Given the description of an element on the screen output the (x, y) to click on. 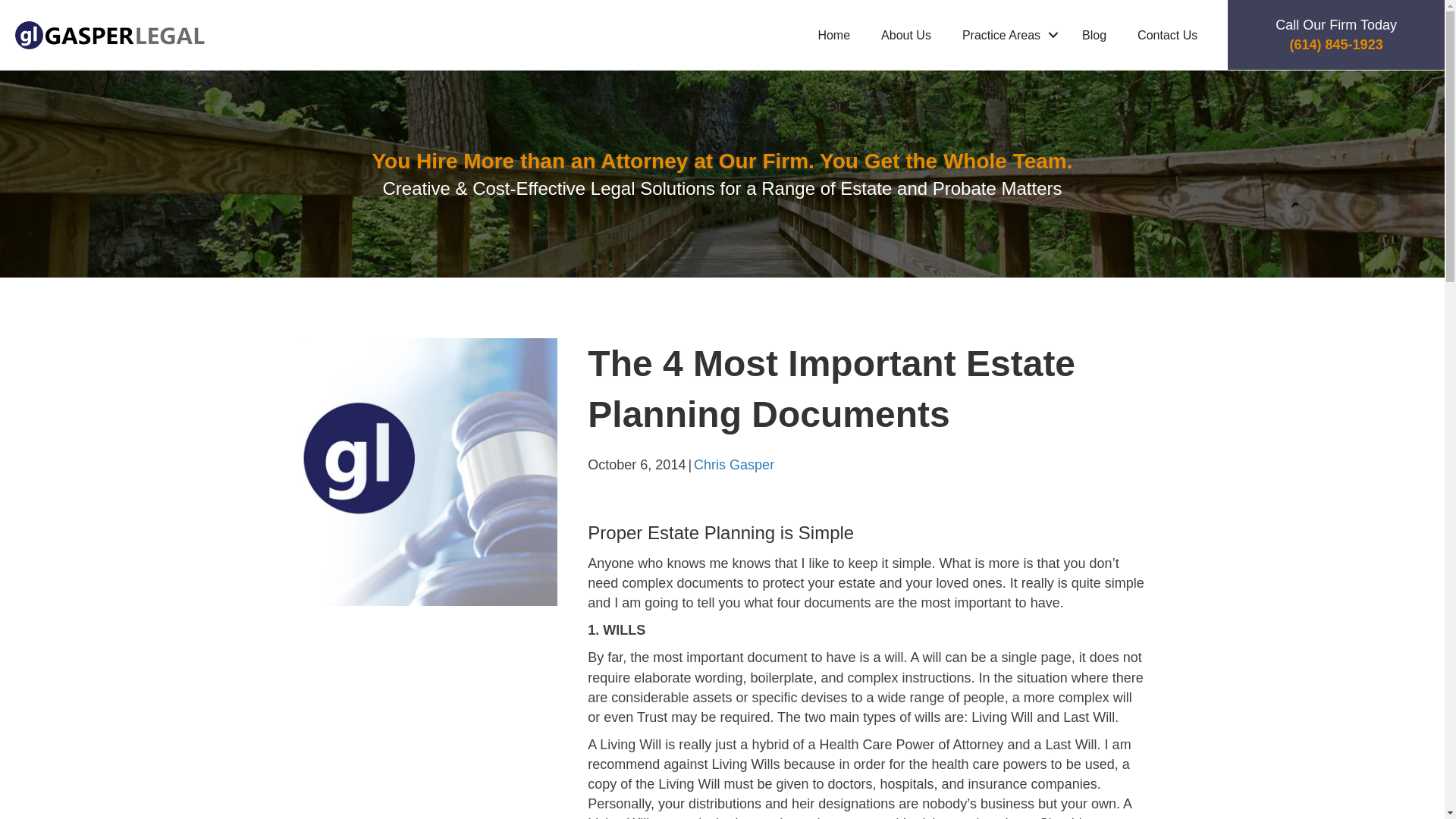
Home (833, 34)
Blog (1094, 34)
Chris Gasper (734, 464)
Practice Areas (1006, 34)
About Us (906, 34)
Contact Us (1167, 34)
